Given the description of an element on the screen output the (x, y) to click on. 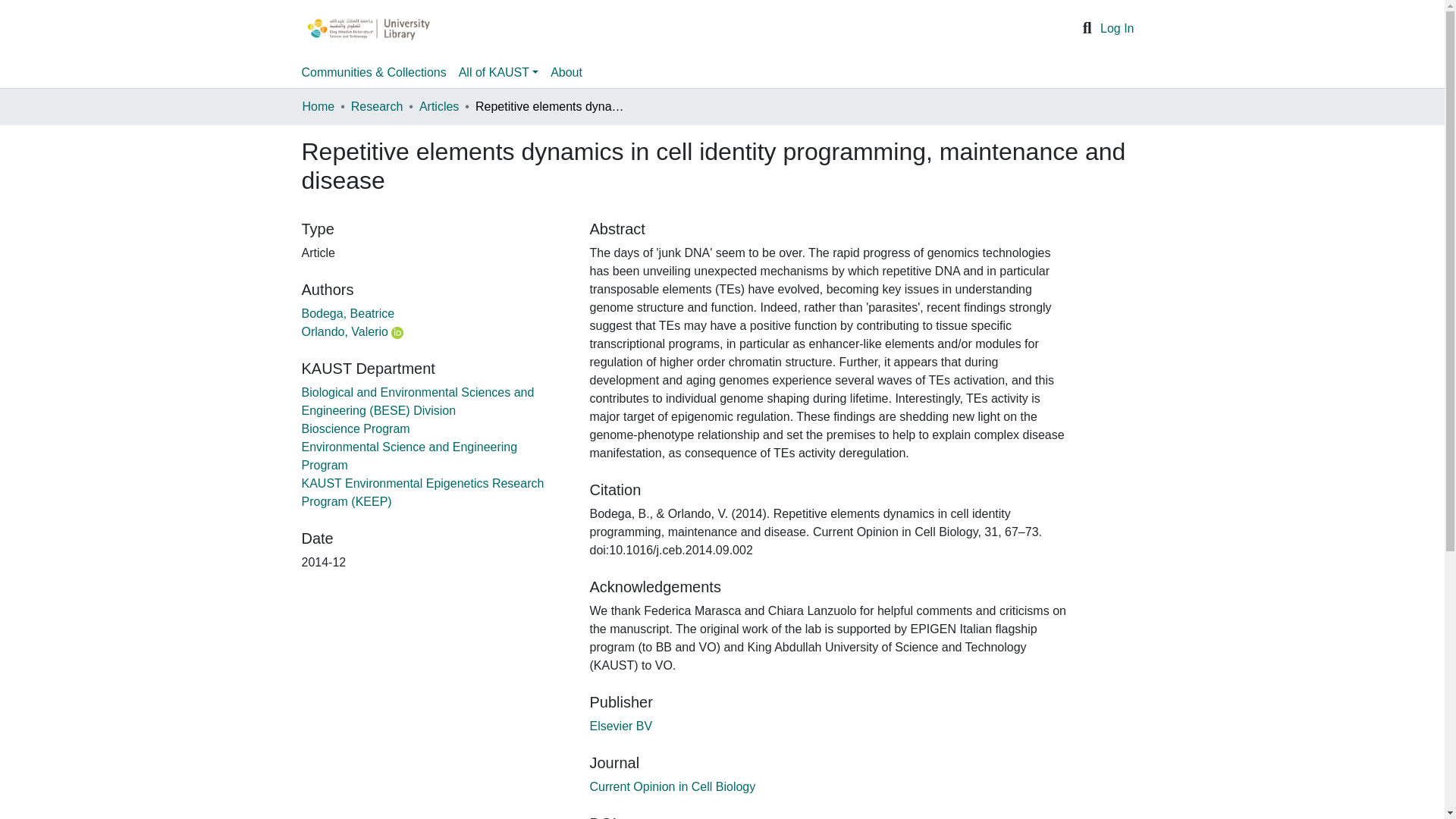
Environmental Science and Engineering Program (409, 455)
Bioscience Program (355, 428)
Bodega, Beatrice (347, 313)
Articles (438, 106)
All of KAUST (498, 72)
About (566, 72)
Current Opinion in Cell Biology (672, 786)
Research (376, 106)
Search (1087, 28)
Elsevier BV (620, 725)
About (566, 72)
Orlando, Valerio (344, 331)
Home (317, 106)
Log In (1117, 28)
